Given the description of an element on the screen output the (x, y) to click on. 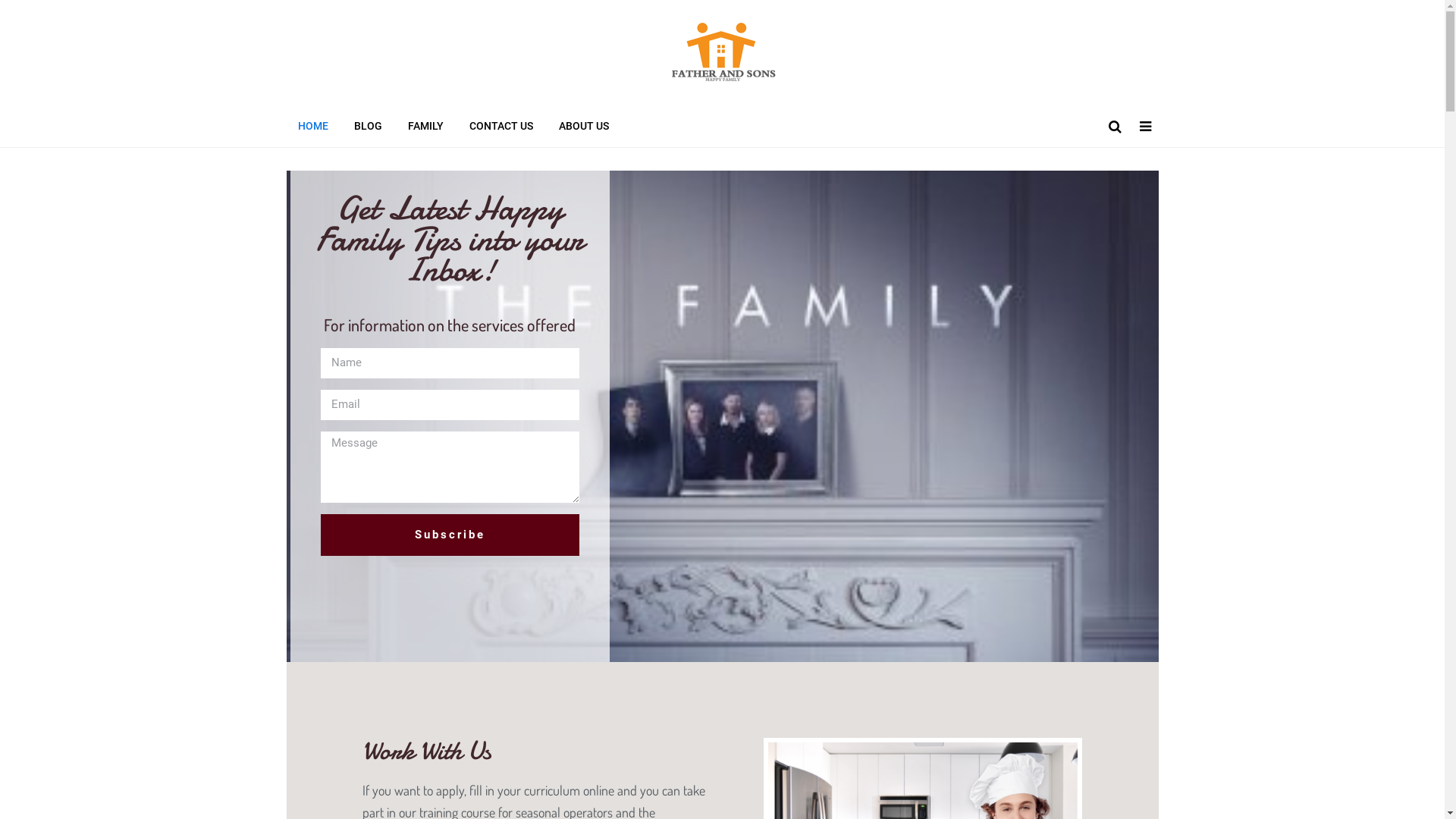
ABOUT US Element type: text (583, 125)
BLOG Element type: text (367, 125)
FAMILY Element type: text (424, 125)
Father and Sons Element type: hover (722, 86)
Subscribe Element type: text (449, 534)
CONTACT US Element type: text (501, 125)
HOME Element type: text (312, 125)
